Given the description of an element on the screen output the (x, y) to click on. 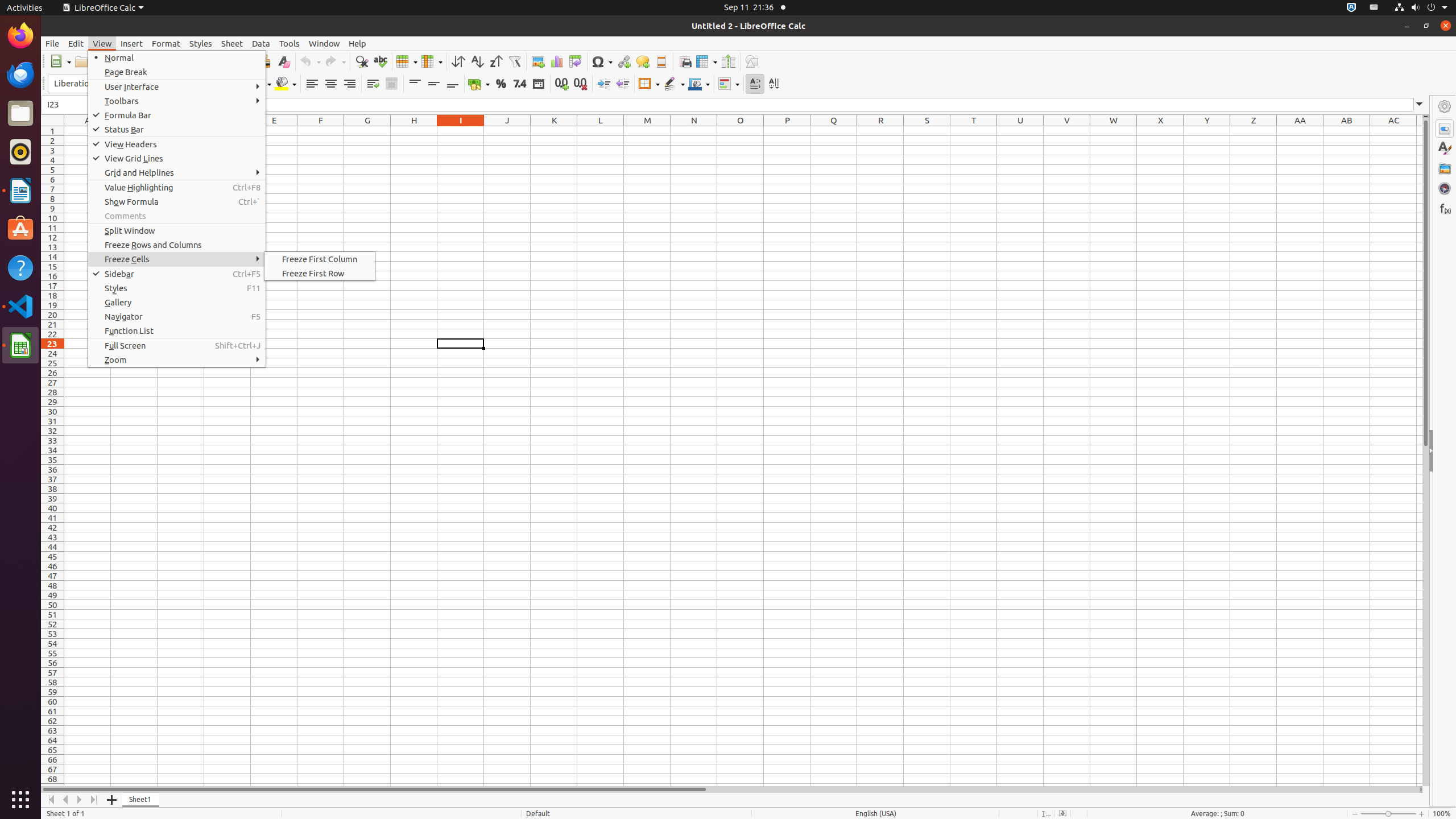
Sort Descending Element type: push-button (495, 61)
Date Element type: push-button (537, 83)
Page Break Element type: radio-menu-item (176, 71)
L1 Element type: table-cell (600, 130)
AD1 Element type: table-cell (1419, 130)
